Given the description of an element on the screen output the (x, y) to click on. 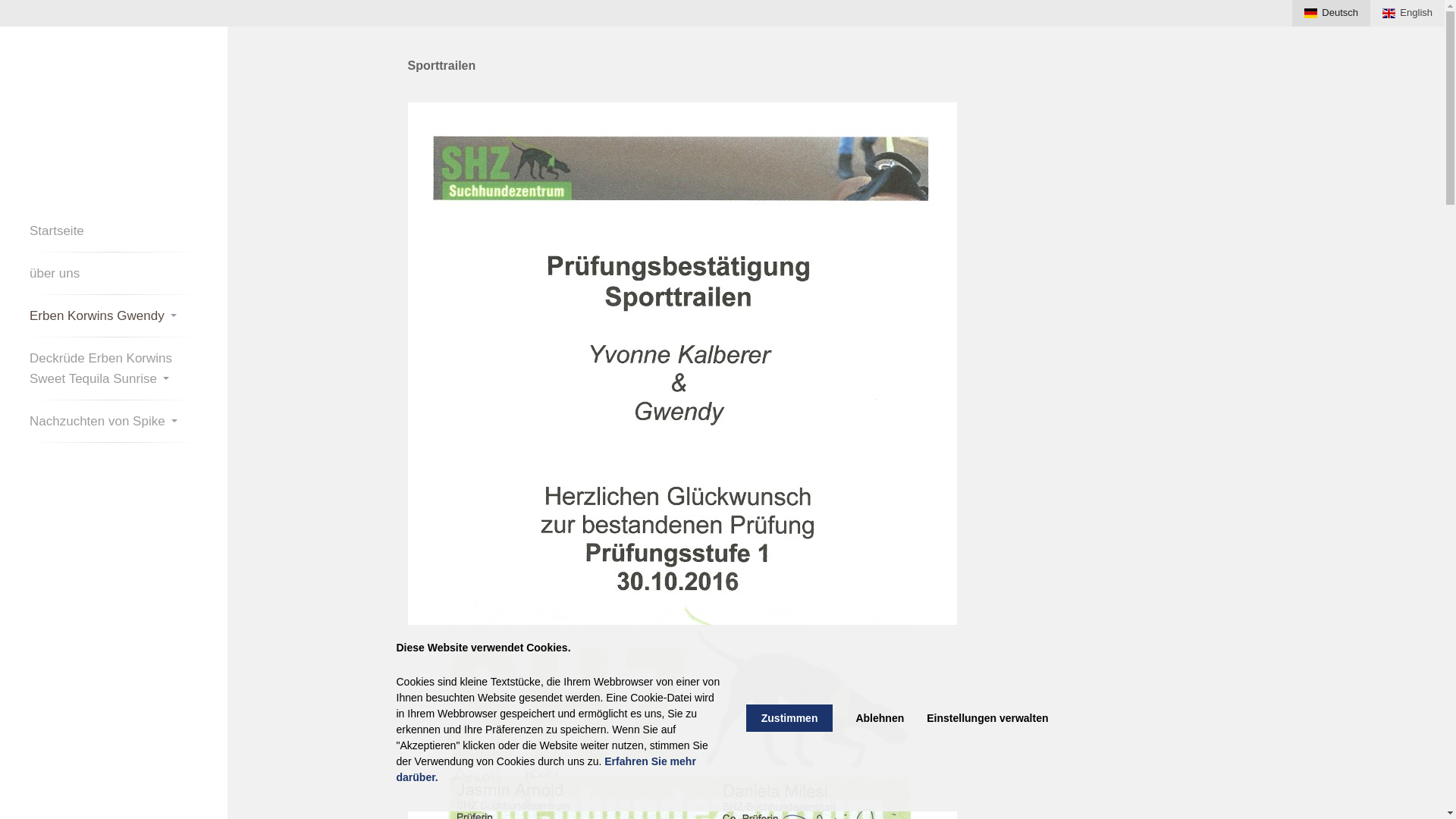
Ablehnen Element type: text (879, 717)
Zustimmen Element type: text (789, 717)
English Element type: text (1407, 13)
Startseite Element type: text (113, 230)
Deutsch Element type: text (1331, 13)
Einstellungen verwalten Element type: text (987, 717)
